Given the description of an element on the screen output the (x, y) to click on. 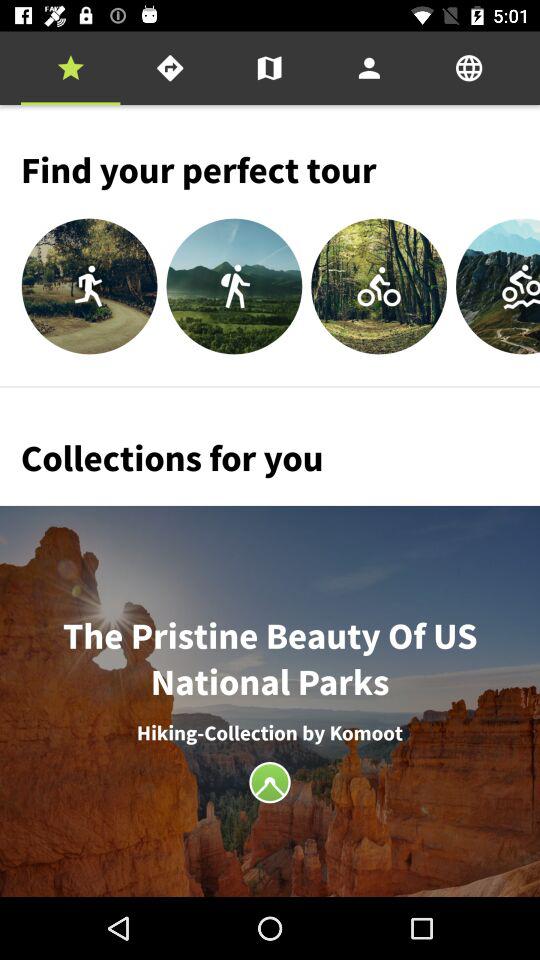
turn off icon above the find your perfect item (469, 68)
